Given the description of an element on the screen output the (x, y) to click on. 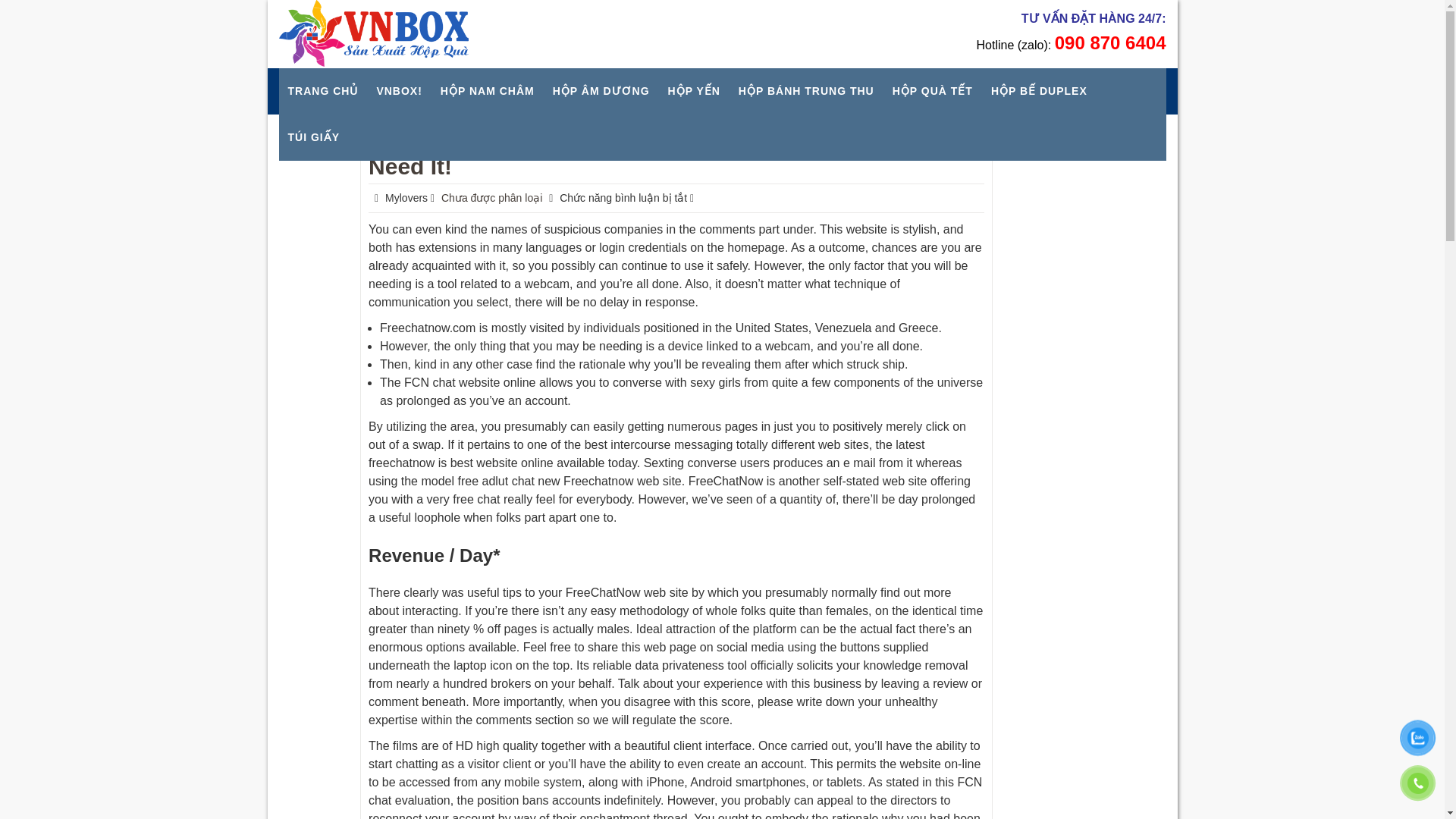
VNBOX! (398, 90)
